Given the description of an element on the screen output the (x, y) to click on. 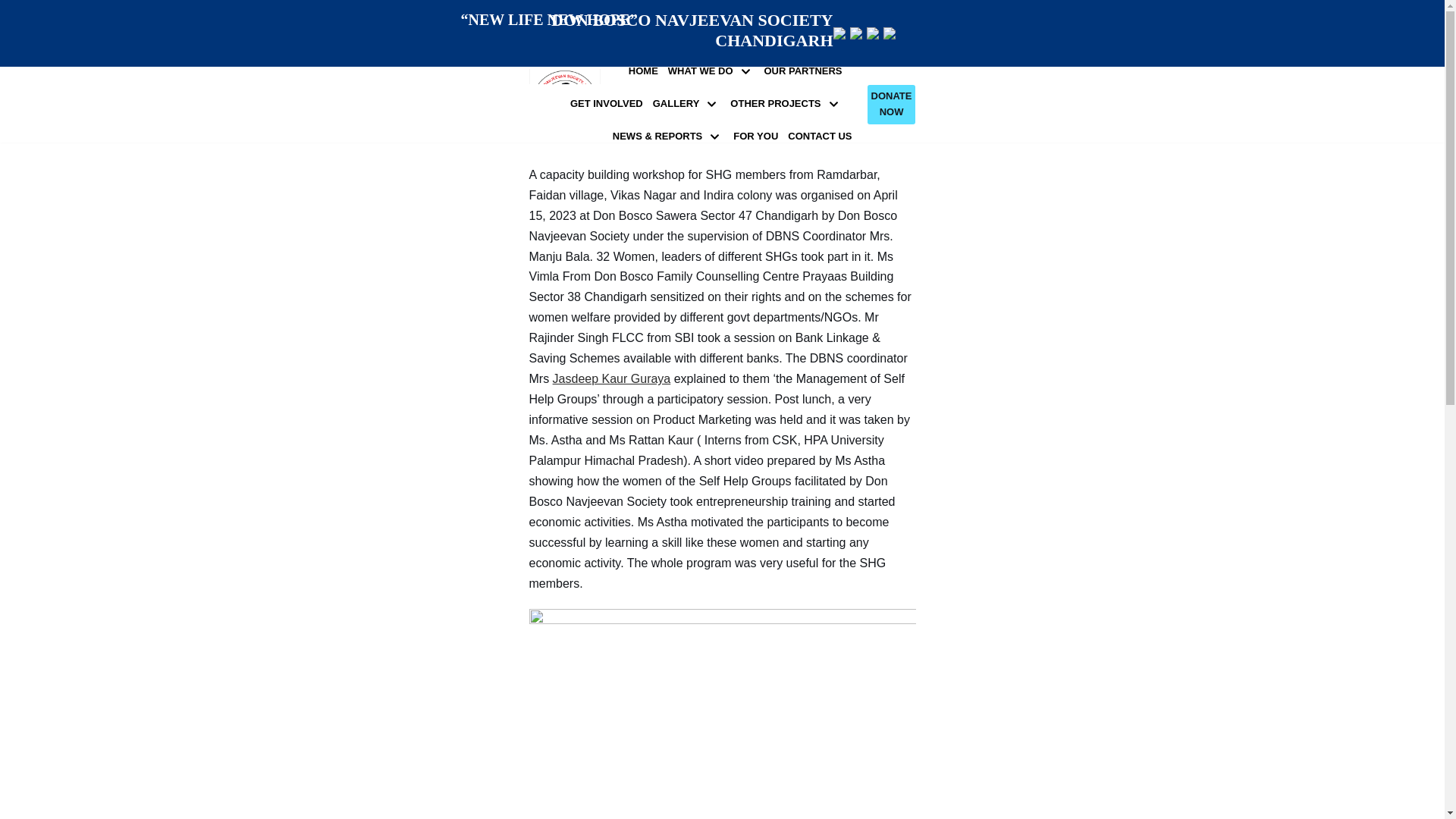
FOR YOU (755, 136)
GALLERY (686, 104)
WHAT WE DO (711, 71)
Skip to content (15, 31)
GET INVOLVED (606, 104)
DONATE NOW (891, 104)
OTHER PROJECTS (785, 104)
HOME (643, 71)
CONTACT US (819, 136)
OUR PARTNERS (803, 71)
